Given the description of an element on the screen output the (x, y) to click on. 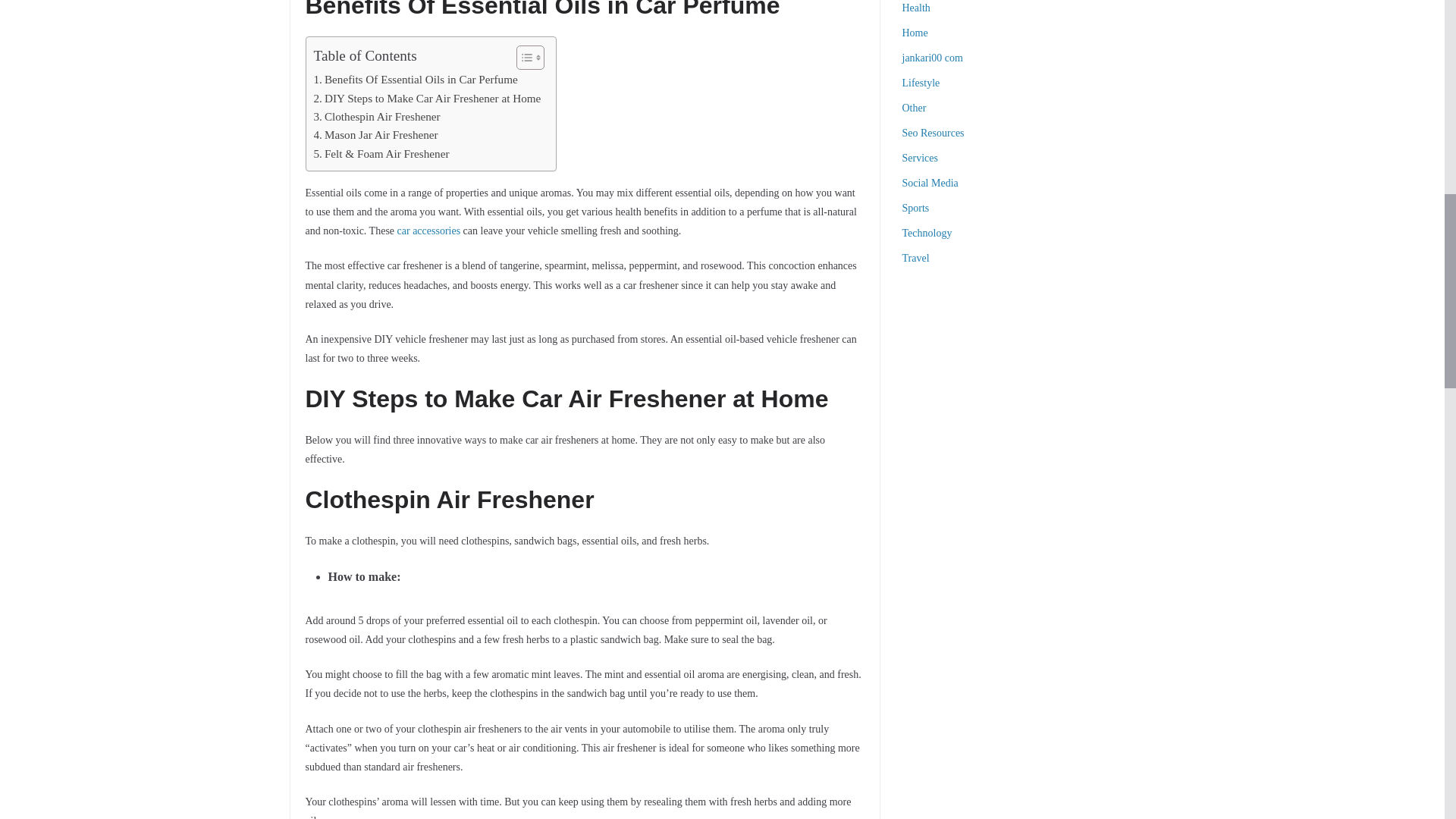
Mason Jar Air Freshener (376, 135)
DIY Steps to Make Car Air Freshener at Home (427, 98)
Mason Jar Air Freshener (376, 135)
Clothespin Air Freshener (377, 116)
Clothespin Air Freshener (377, 116)
Benefits Of Essential Oils in Car Perfume (416, 79)
DIY Steps to Make Car Air Freshener at Home (427, 98)
Benefits Of Essential Oils in Car Perfume (416, 79)
car accessories (429, 230)
